Given the description of an element on the screen output the (x, y) to click on. 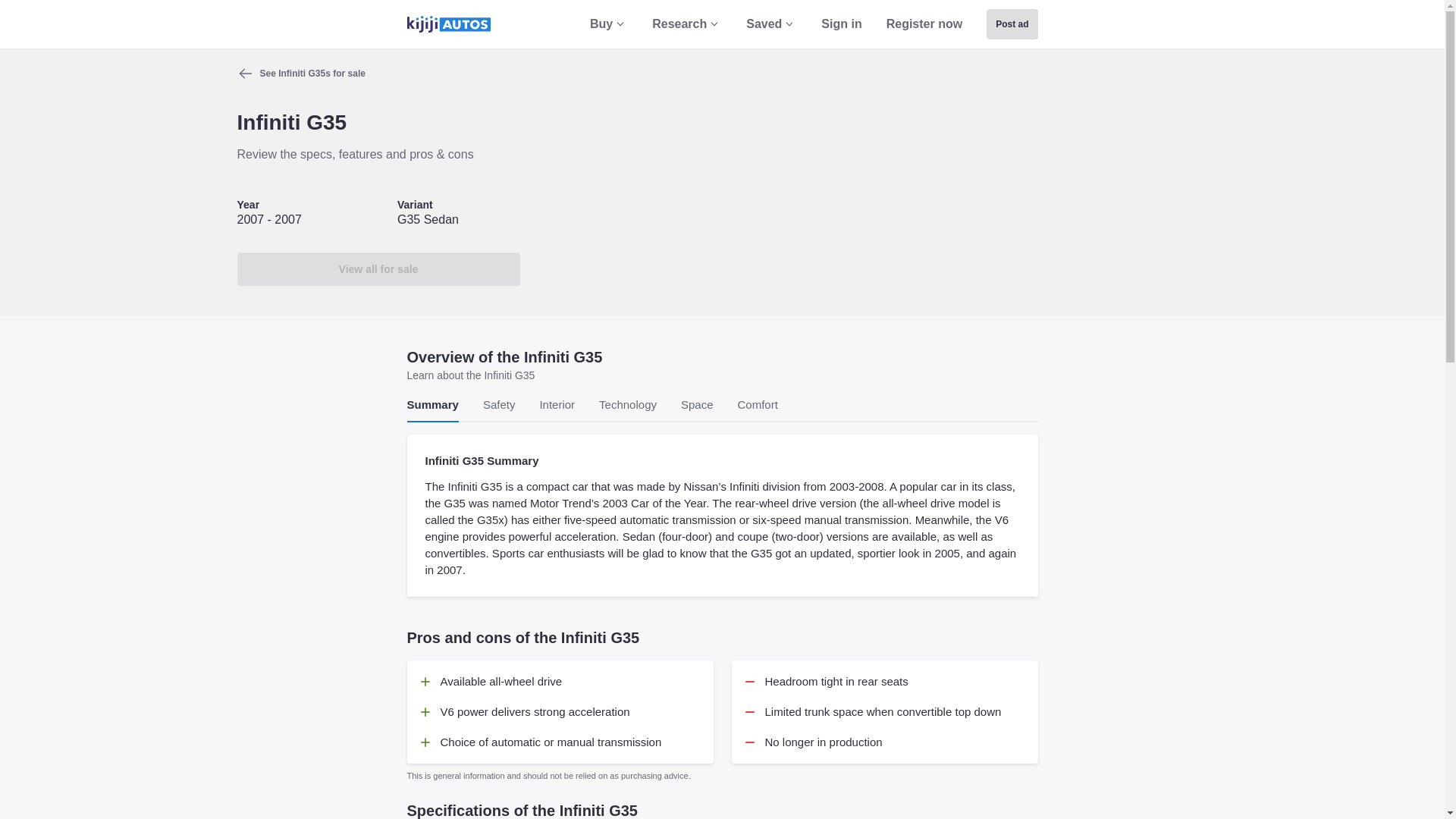
Comfort (757, 405)
Register now (924, 23)
Interior (556, 405)
Summary (432, 405)
Skip to main content (20, 21)
Safety (499, 405)
View all for sale (377, 268)
Research (687, 23)
Space (697, 405)
Post ad (1011, 24)
